Given the description of an element on the screen output the (x, y) to click on. 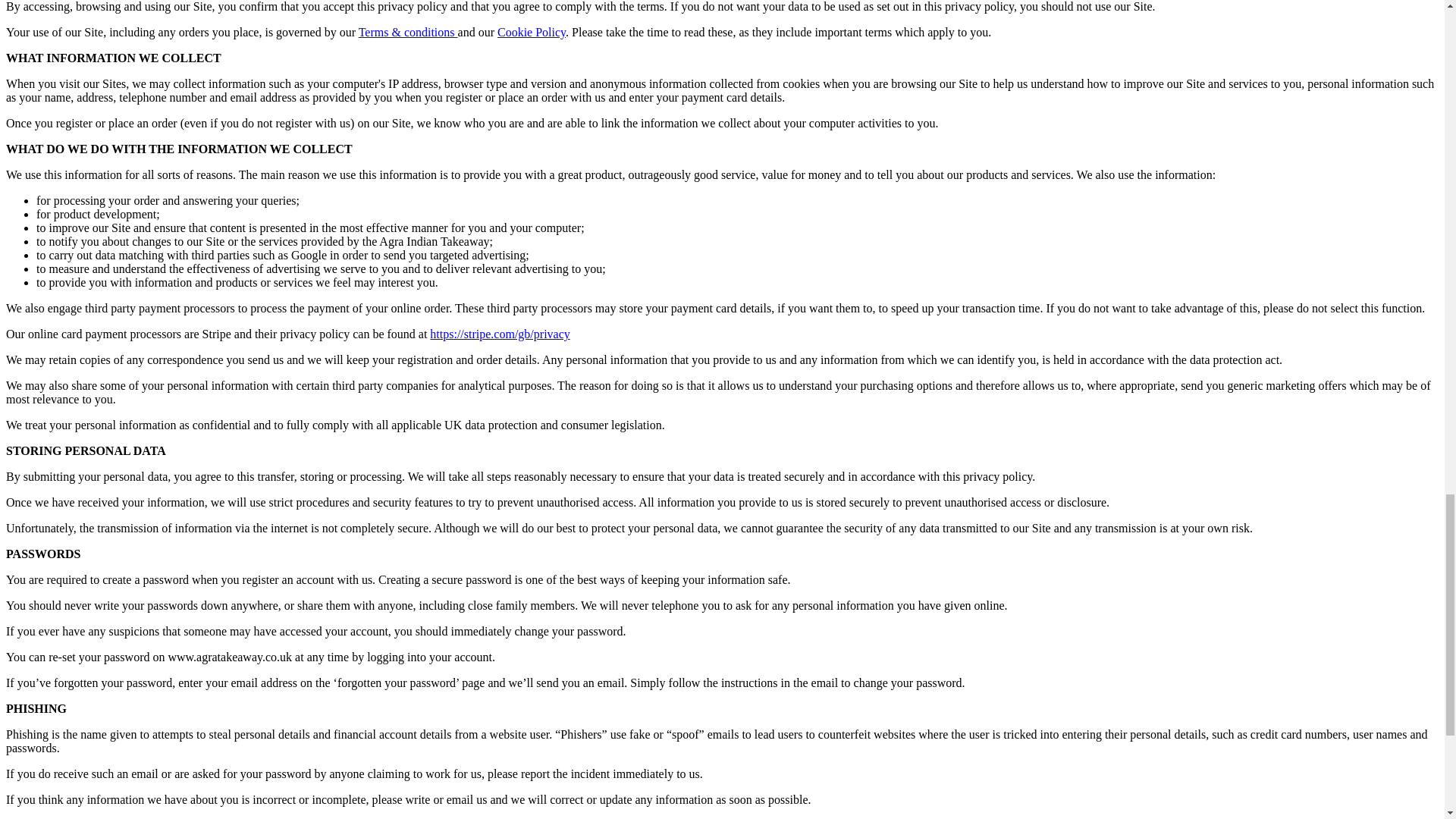
Cookie Policy (531, 31)
